Given the description of an element on the screen output the (x, y) to click on. 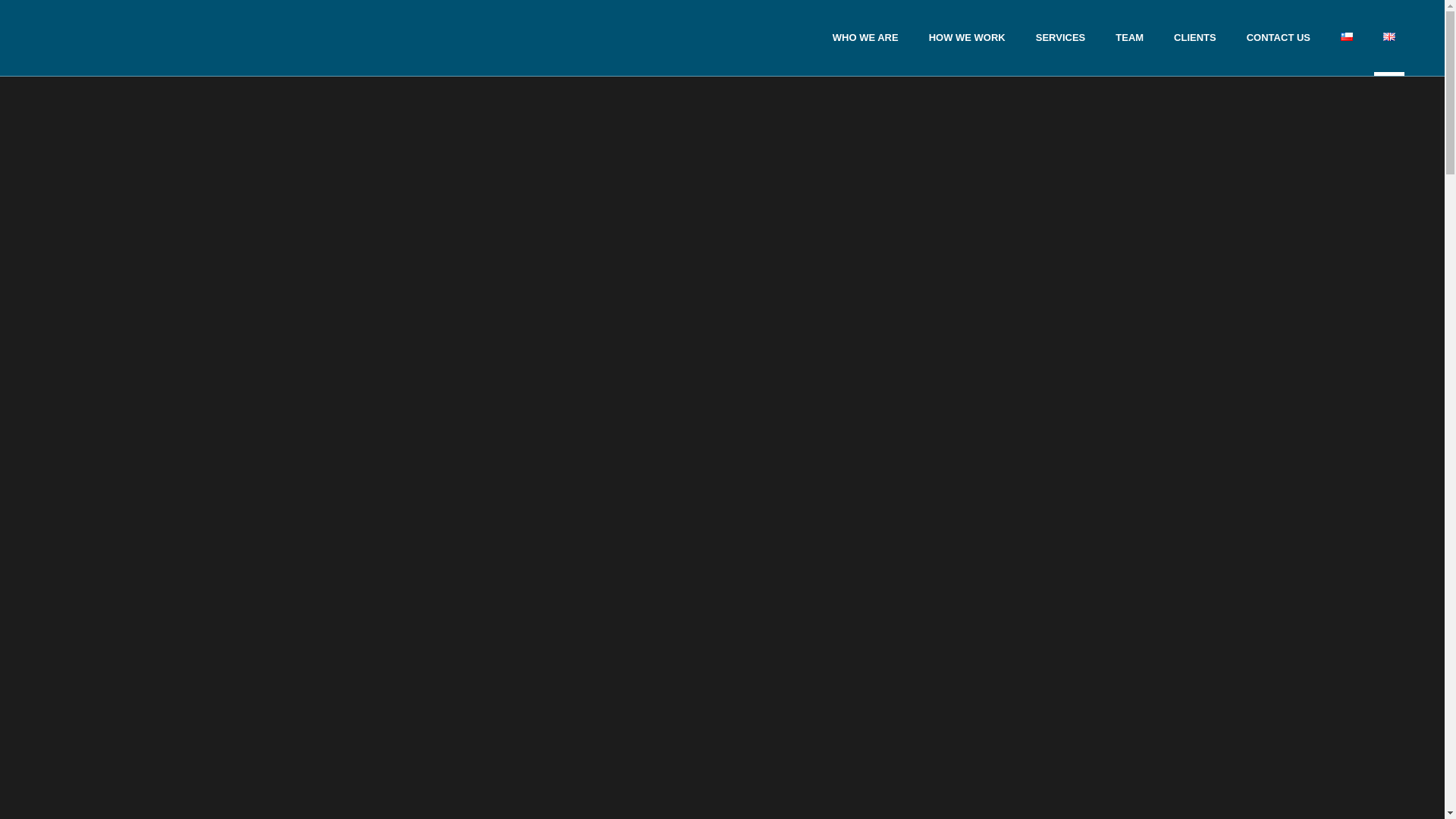
English (1388, 36)
HOW WE WORK (967, 38)
CONTACT US (1278, 38)
WHO WE ARE (865, 38)
SERVICES (1060, 38)
